Given the description of an element on the screen output the (x, y) to click on. 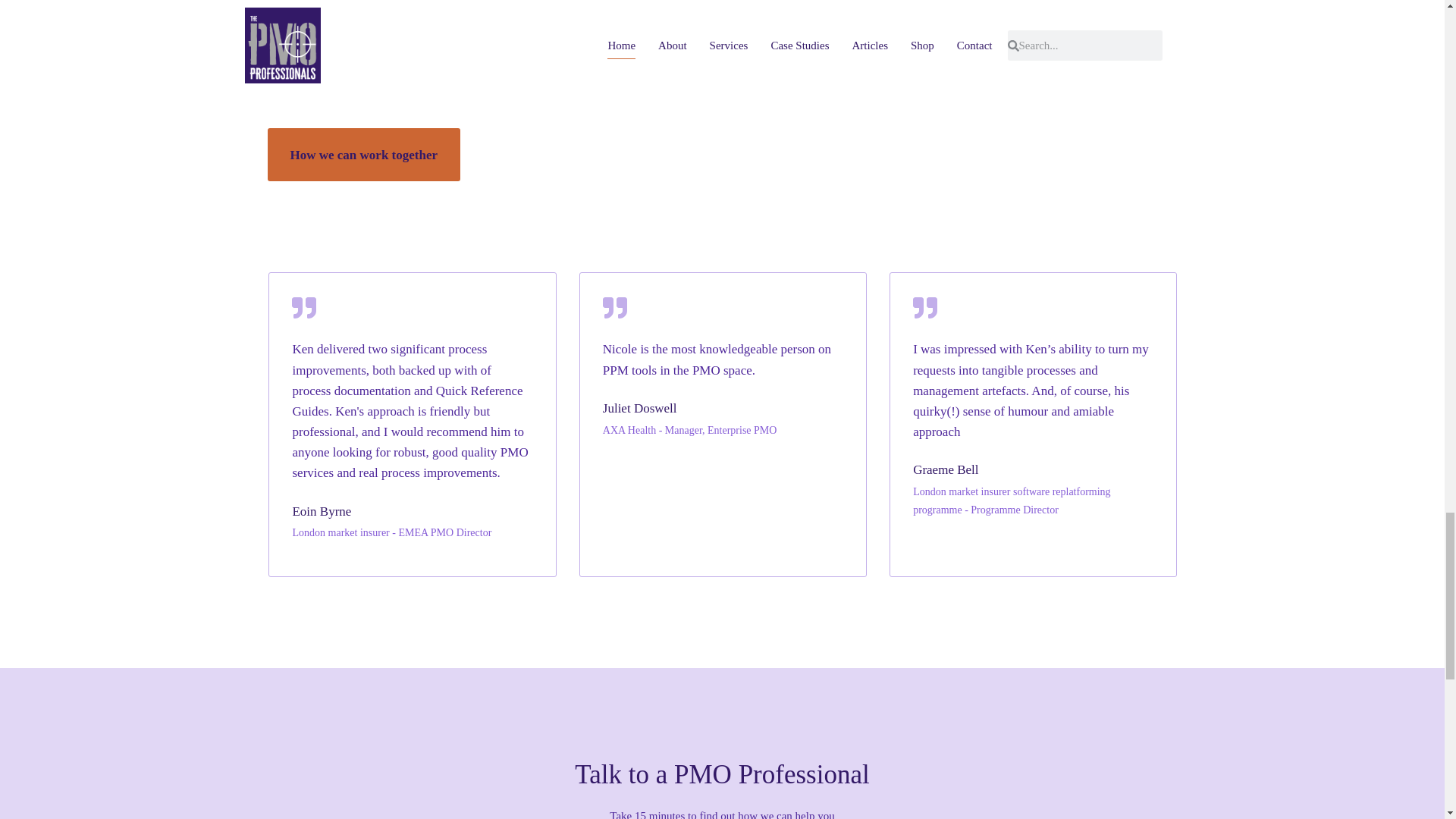
How we can work together (363, 153)
